Given the description of an element on the screen output the (x, y) to click on. 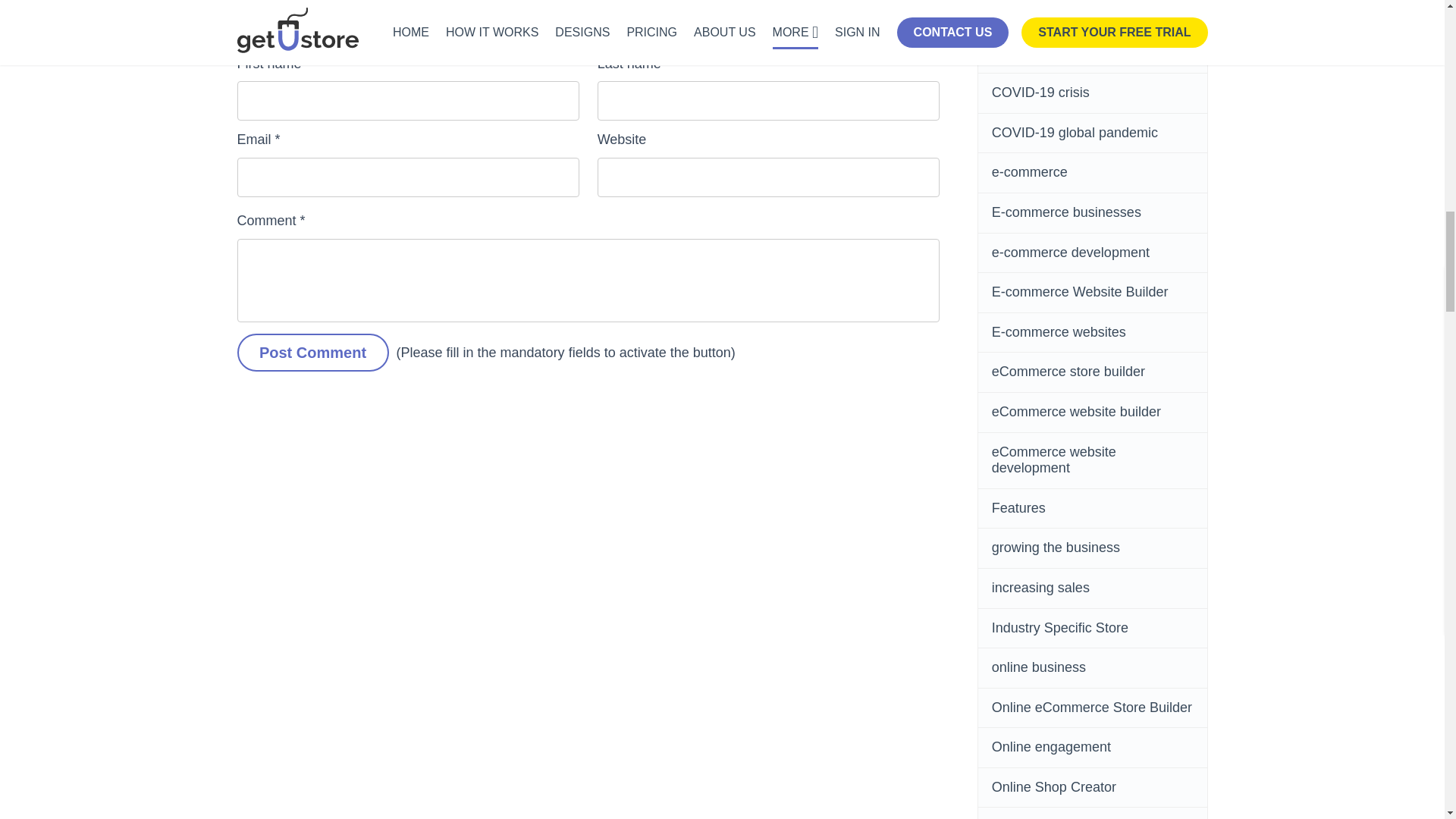
Post Comment (311, 352)
